Given the description of an element on the screen output the (x, y) to click on. 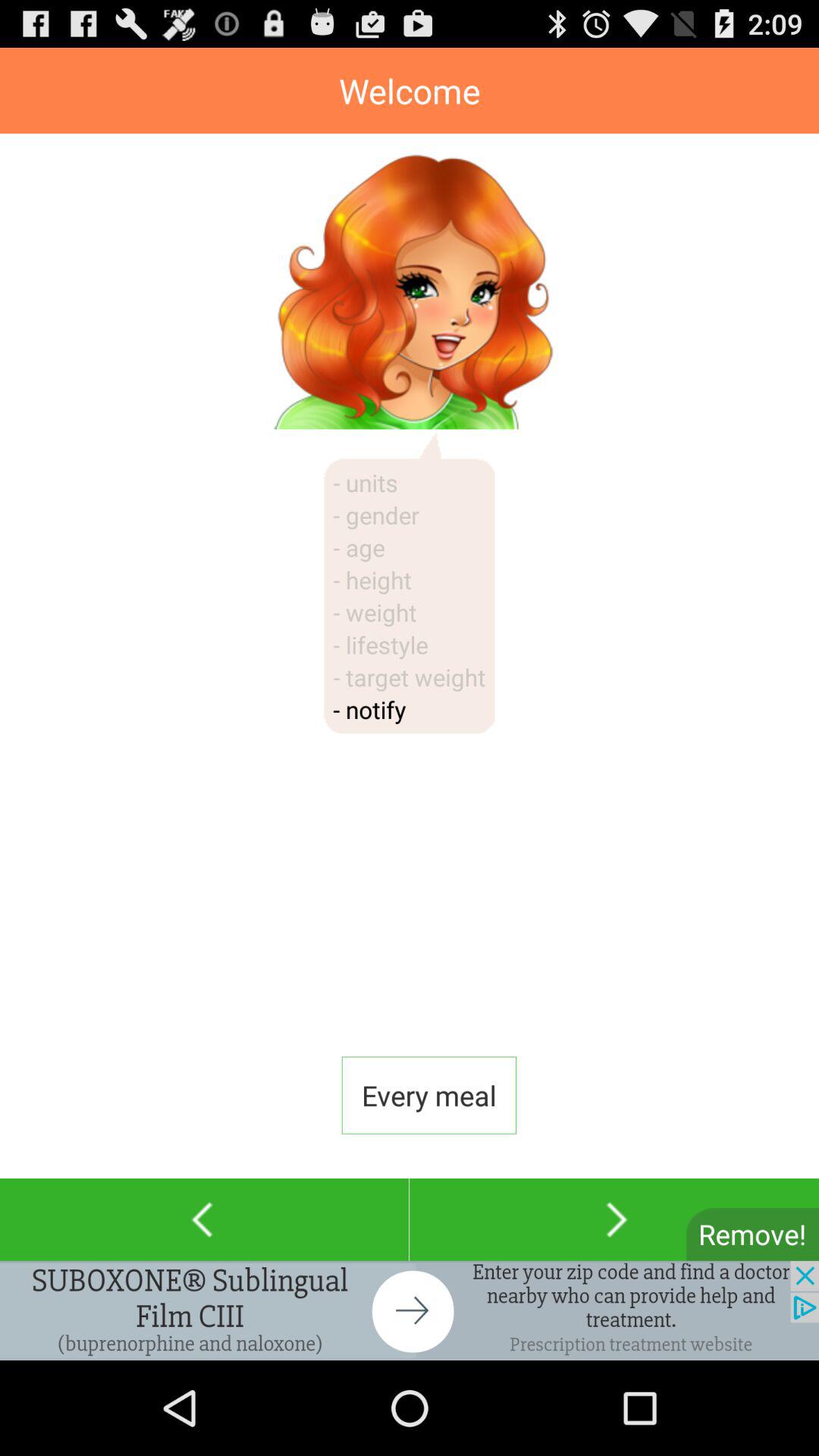
go to next (614, 1219)
